Given the description of an element on the screen output the (x, y) to click on. 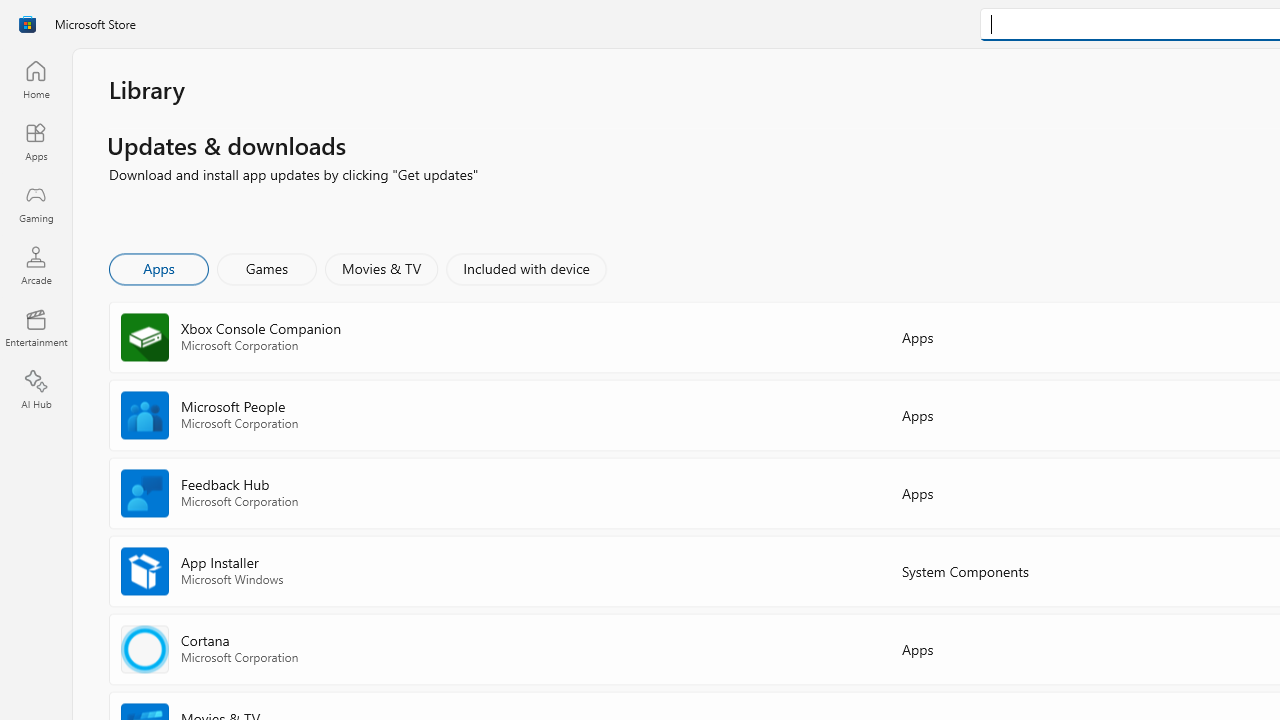
Games (267, 268)
Gaming (35, 203)
AI Hub (35, 390)
Movies & TV (381, 268)
Home (35, 79)
Included with device (525, 268)
Arcade (35, 265)
